Given the description of an element on the screen output the (x, y) to click on. 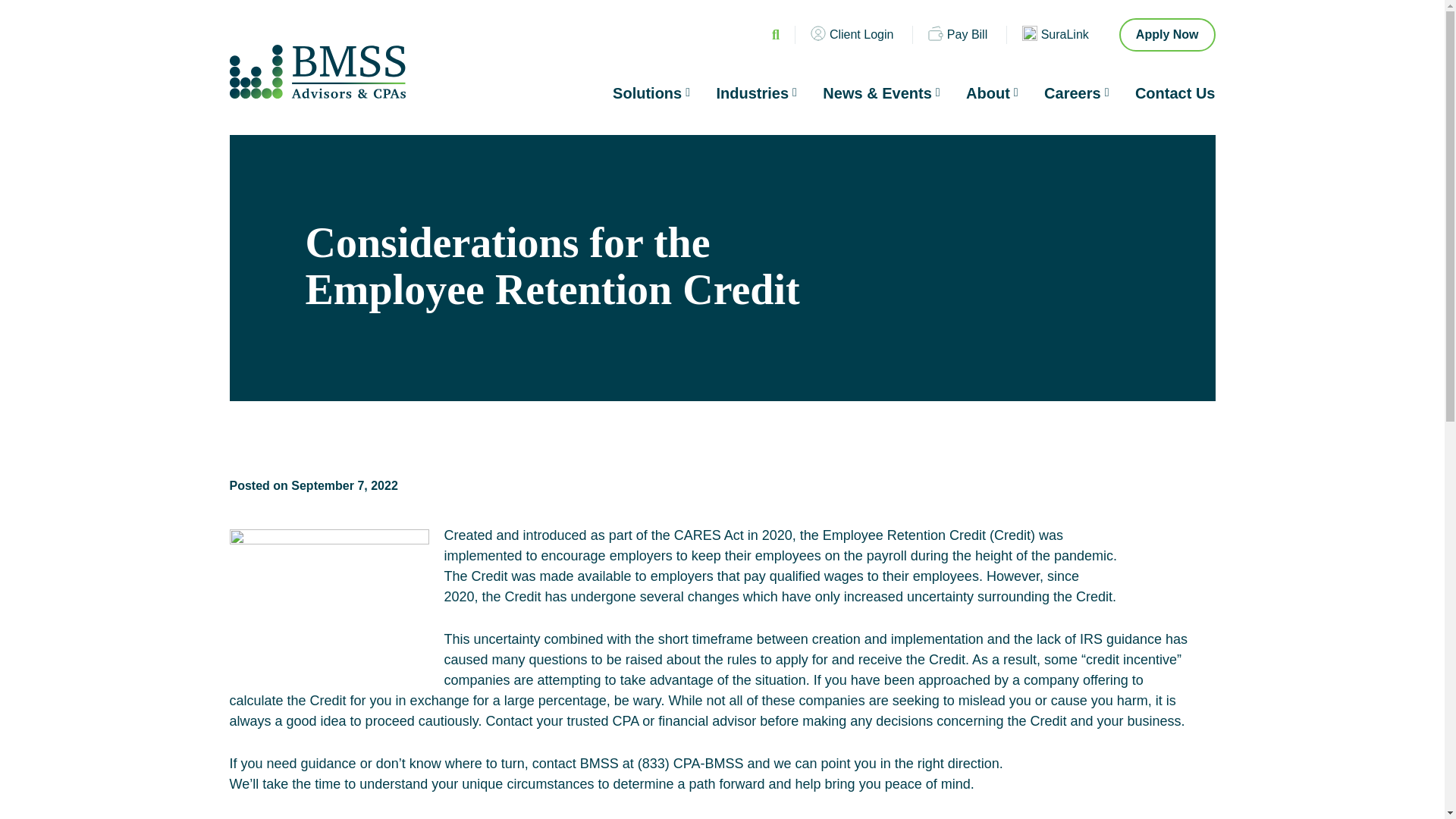
SuraLink (1055, 33)
Pay Bill (957, 33)
Apply Now (1167, 34)
Client Login (851, 33)
Search (893, 28)
